Given the description of an element on the screen output the (x, y) to click on. 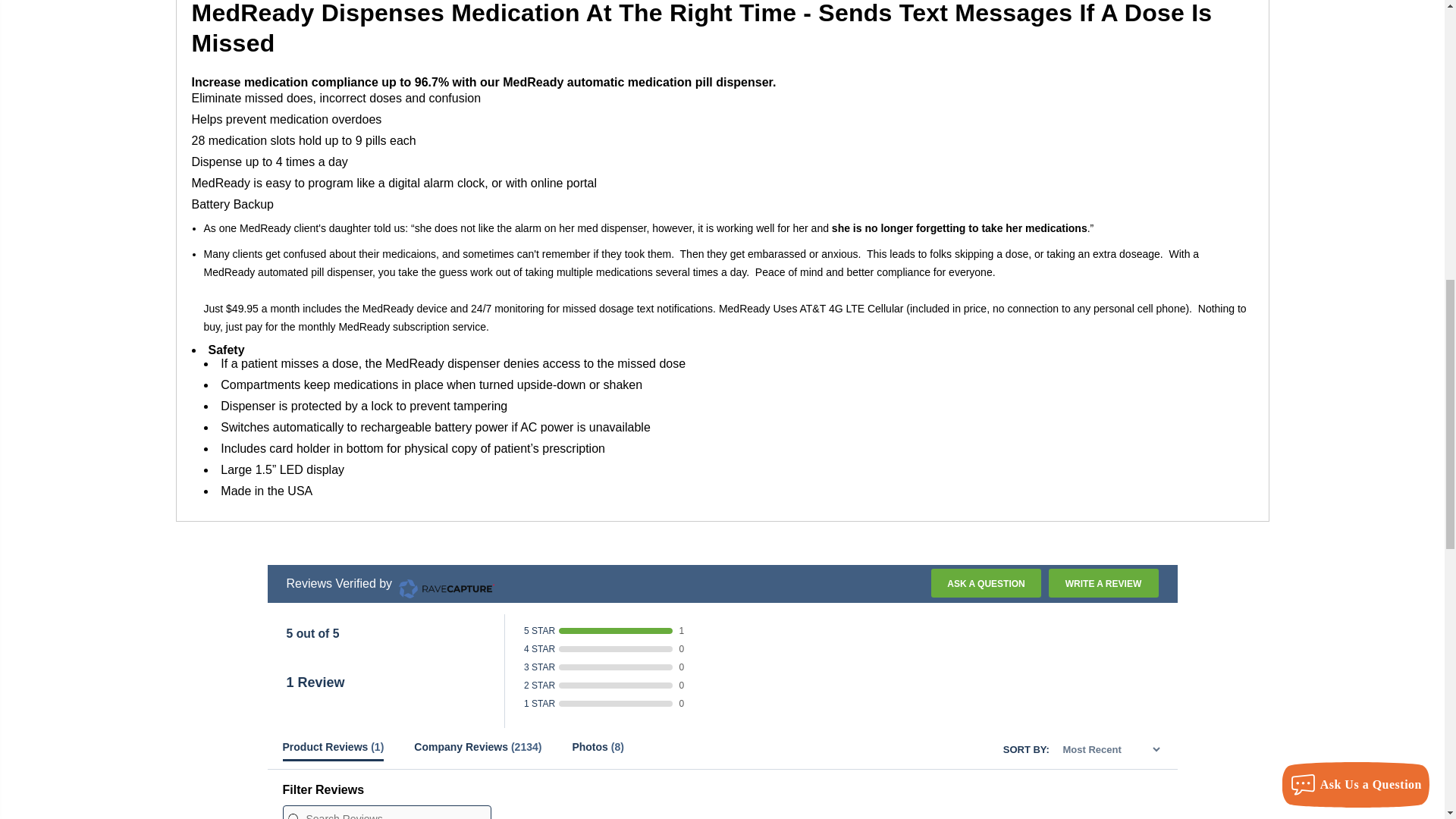
RaveCapture Logo (442, 583)
Write review (1102, 582)
Ask question (986, 582)
5 stars (300, 653)
